Given the description of an element on the screen output the (x, y) to click on. 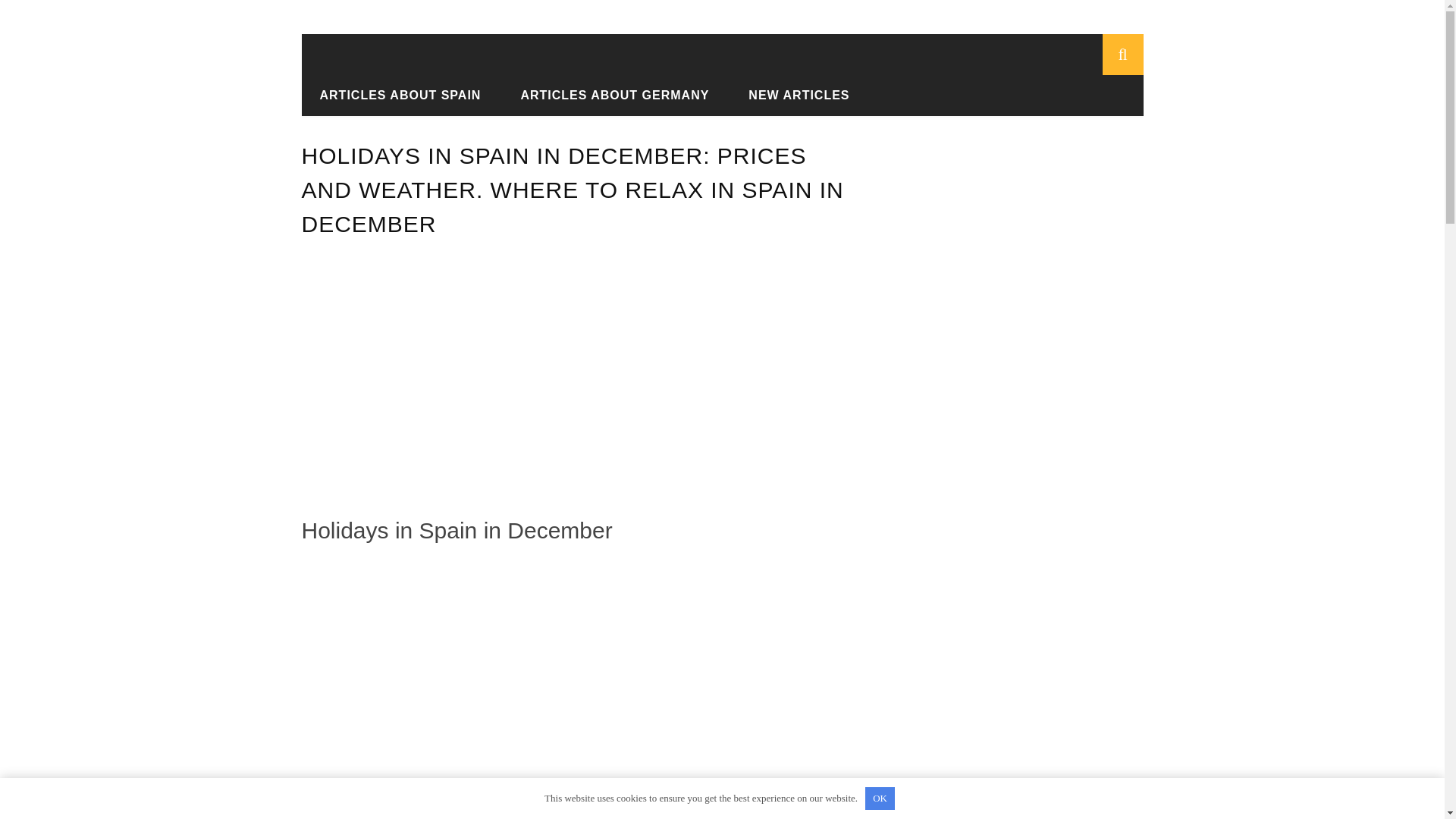
photo: Holidays in Spain in December (507, 691)
Articles about Spain (439, 95)
ARTICLES ABOUT GERMANY (614, 94)
Home (343, 95)
NEW ARTICLES (798, 94)
ARTICLES ABOUT SPAIN (400, 94)
